Given the description of an element on the screen output the (x, y) to click on. 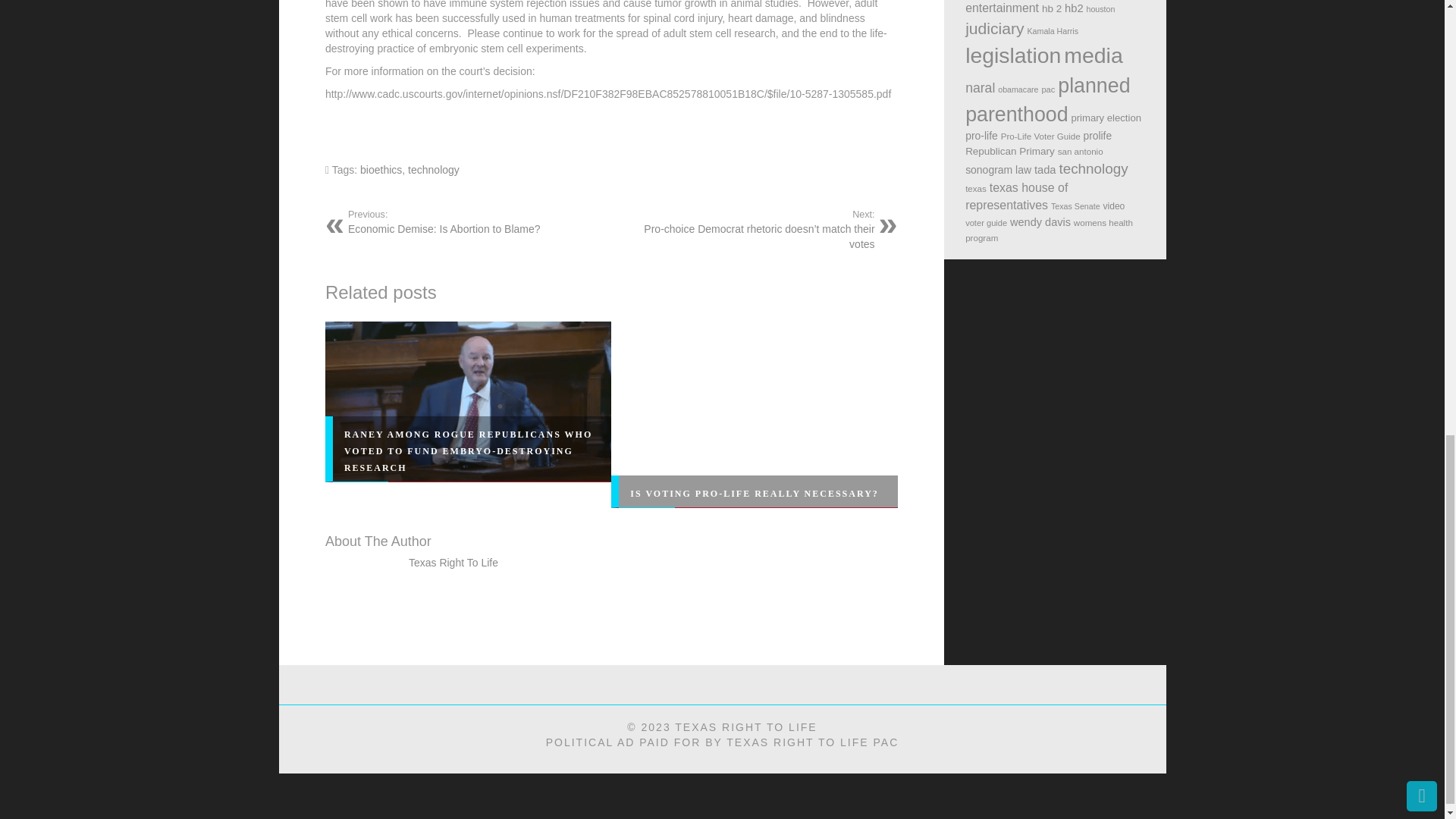
technology (473, 221)
bioethics (433, 169)
IS VOTING PRO-LIFE REALLY NECESSARY? (380, 169)
Permalink to Is voting Pro-Life really necessary? (754, 493)
Posts by Texas Right To Life (754, 493)
Texas Right To Life (453, 562)
